Given the description of an element on the screen output the (x, y) to click on. 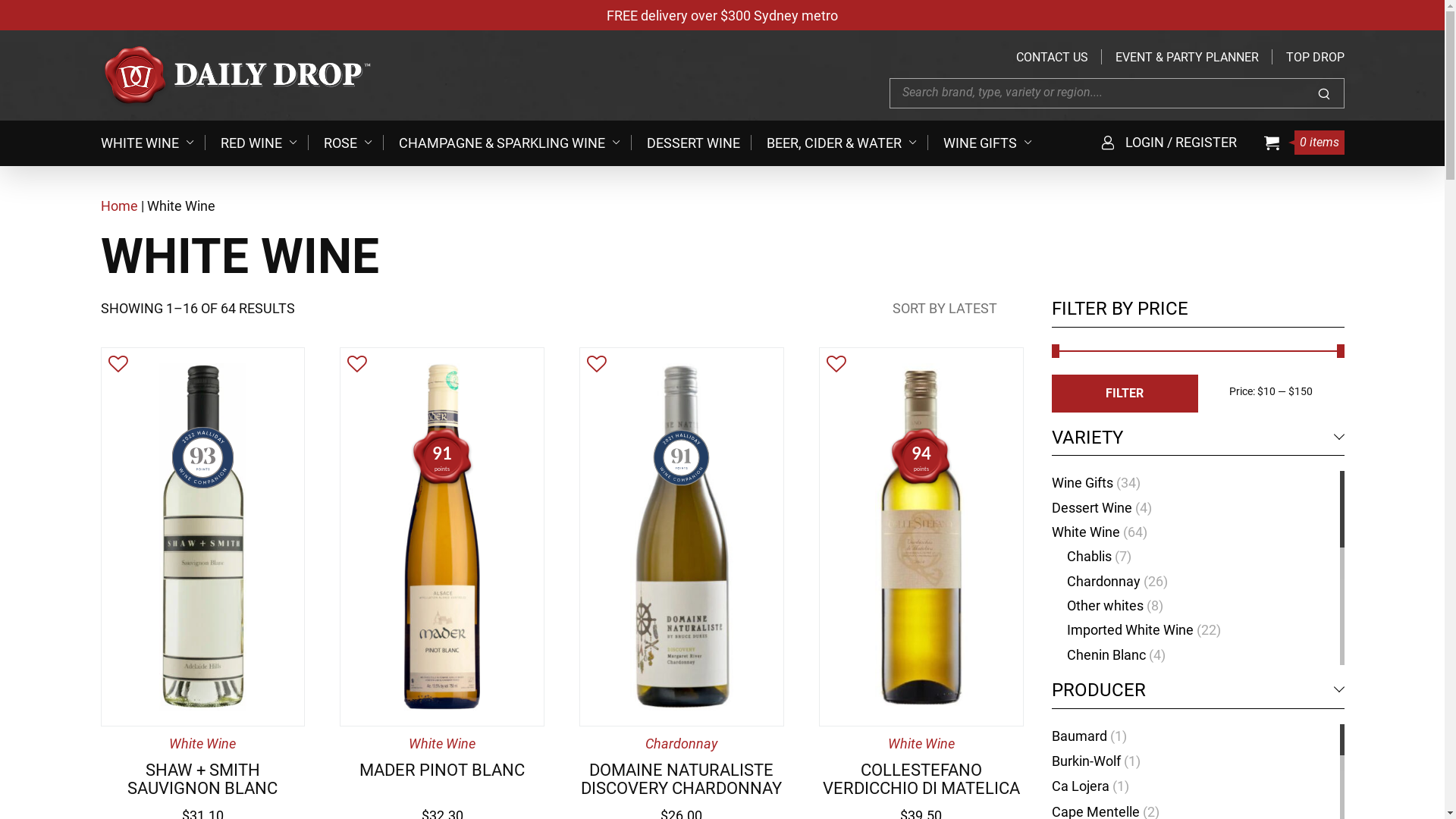
Ca Lojera Element type: text (1079, 785)
Burkin-Wolf Element type: text (1085, 760)
BEER, CIDER & WATER Element type: text (846, 142)
Chablis Element type: text (1088, 556)
WINE GIFTS Element type: text (993, 142)
Other whites Element type: text (1104, 605)
CHAMPAGNE & SPARKLING WINE Element type: text (514, 142)
EVENT & PARTY PLANNER Element type: text (1186, 57)
WHITE WINE Element type: text (152, 142)
RED WINE Element type: text (263, 142)
FILTER Element type: text (1124, 393)
Home Element type: text (118, 205)
DESSERT WINE Element type: text (698, 142)
Dessert Wine Element type: text (1091, 507)
CONTACT US Element type: text (1052, 57)
Chenin Blanc Element type: text (1105, 654)
TOP DROP Element type: text (1315, 57)
Wine Gifts Element type: text (1081, 482)
Chardonnay Element type: text (1102, 581)
Baumard Element type: text (1078, 735)
0
items Element type: text (1303, 142)
White Wine Element type: text (1085, 531)
Imported White Wine Element type: text (1129, 629)
ROSE Element type: text (352, 142)
LOGIN / REGISTER Element type: text (1167, 142)
